Given the description of an element on the screen output the (x, y) to click on. 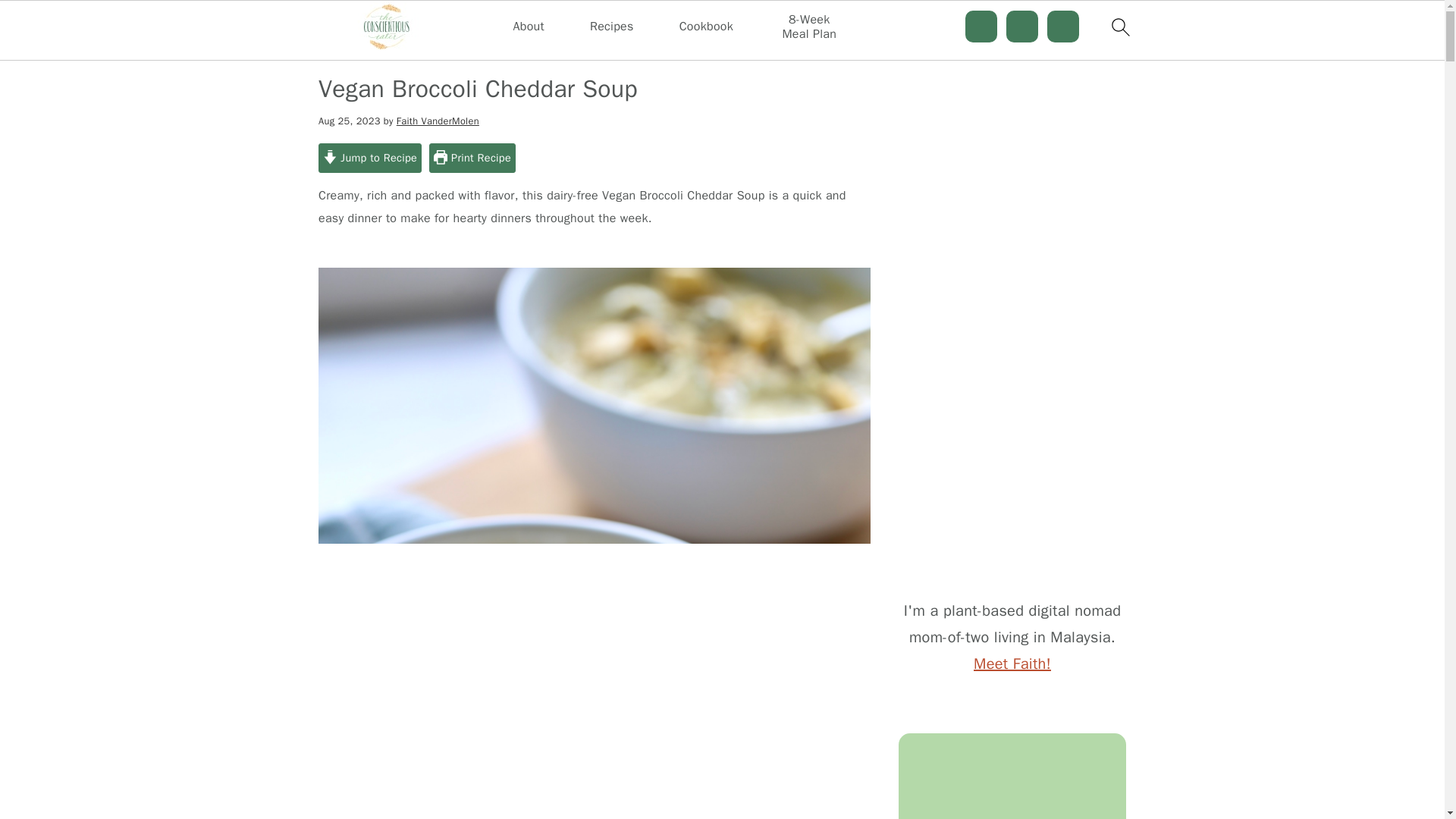
Recipes (461, 50)
8-Week Meal Plan (809, 27)
About (528, 26)
Faith VanderMolen (437, 121)
Print Recipe (472, 157)
Soup (508, 50)
Home (412, 50)
Cookbook (706, 26)
Recipes (611, 26)
search icon (1119, 26)
Jump to Recipe (370, 157)
